Given the description of an element on the screen output the (x, y) to click on. 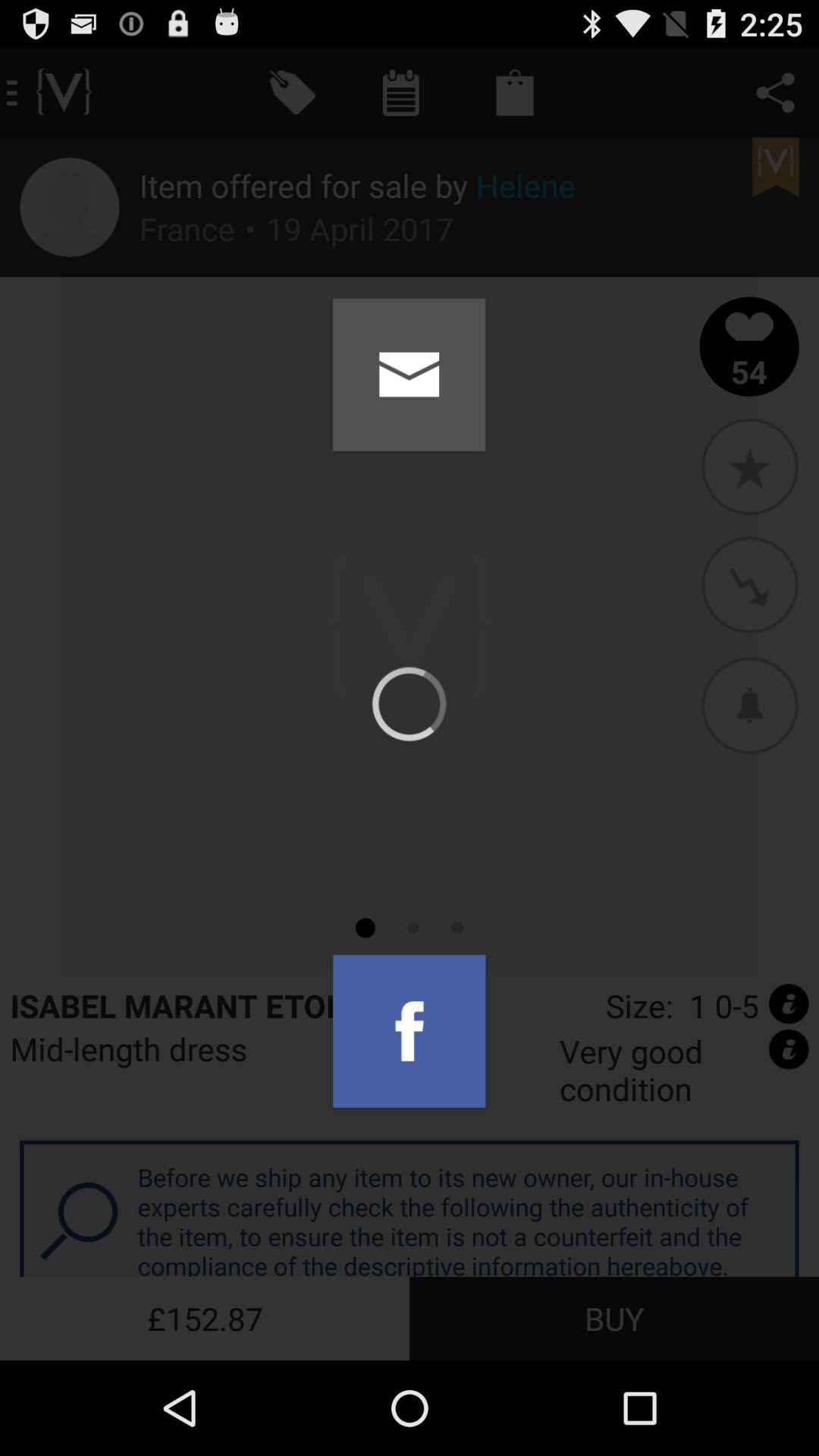
click app above size 1 0 app (749, 704)
